Given the description of an element on the screen output the (x, y) to click on. 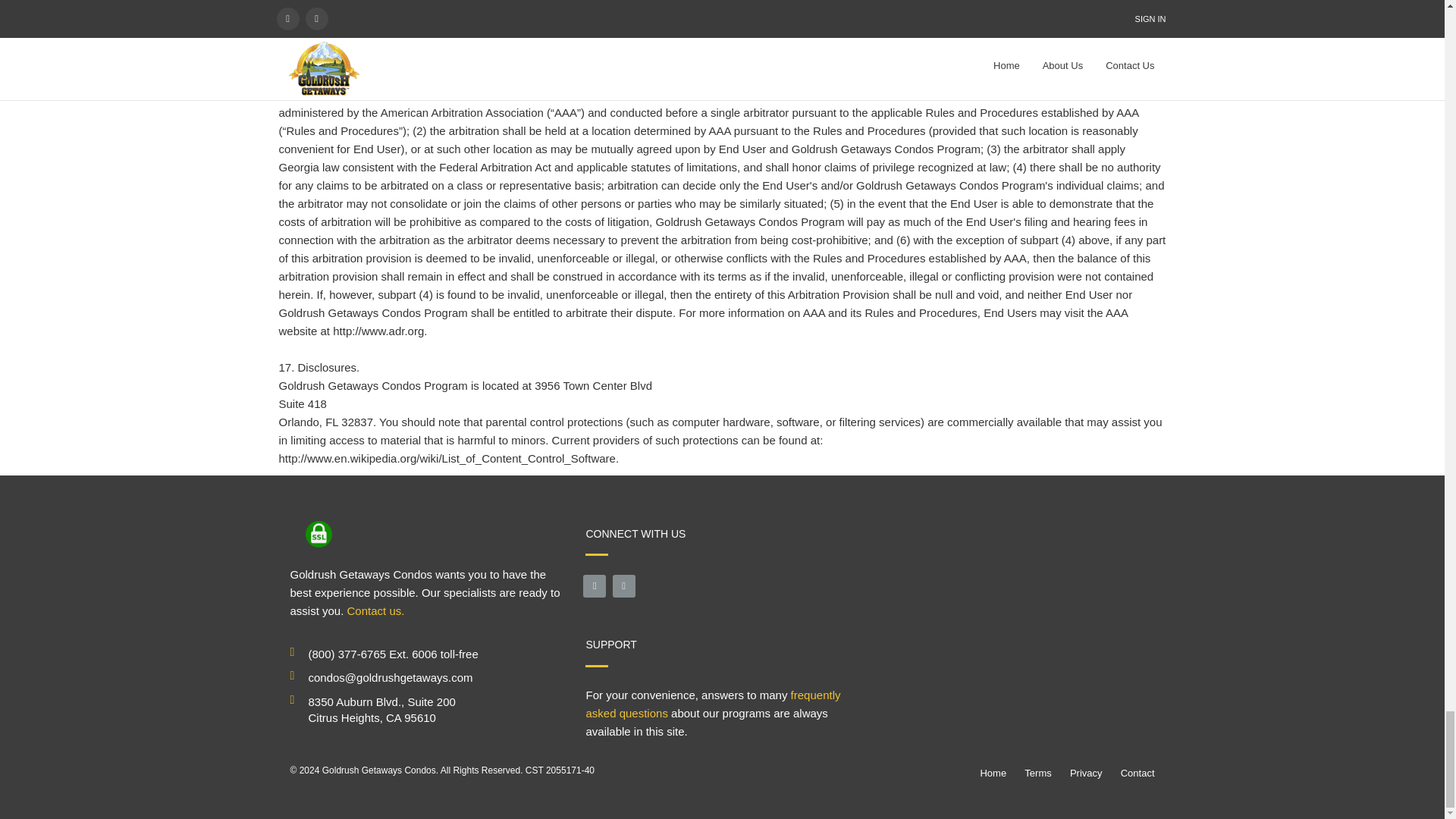
Contact (1137, 772)
frequently asked questions (712, 703)
Safe website (317, 533)
Terms (1038, 772)
Privacy (1086, 772)
Contact us. (375, 610)
Home (992, 772)
